Given the description of an element on the screen output the (x, y) to click on. 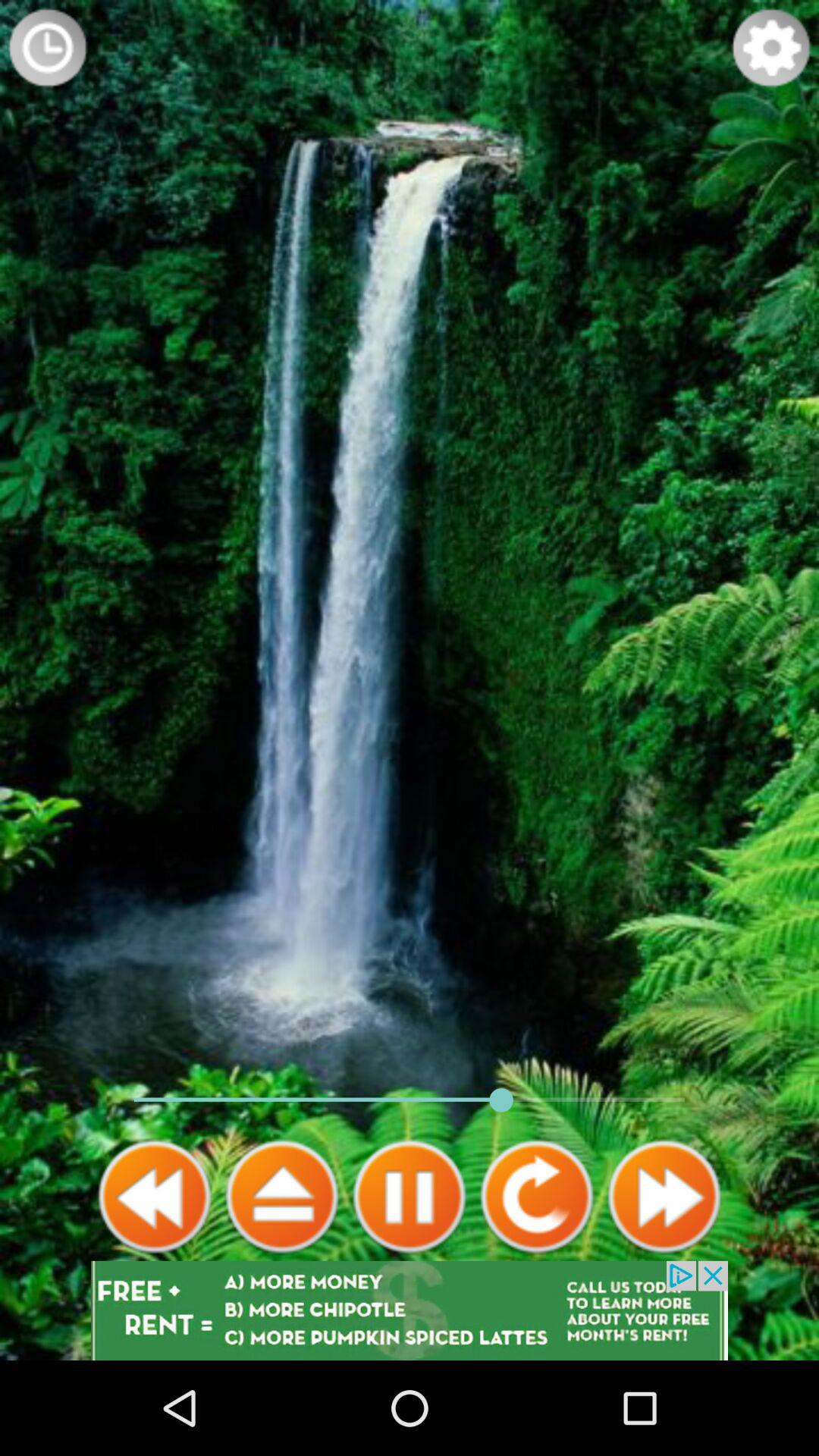
open settings (771, 47)
